Given the description of an element on the screen output the (x, y) to click on. 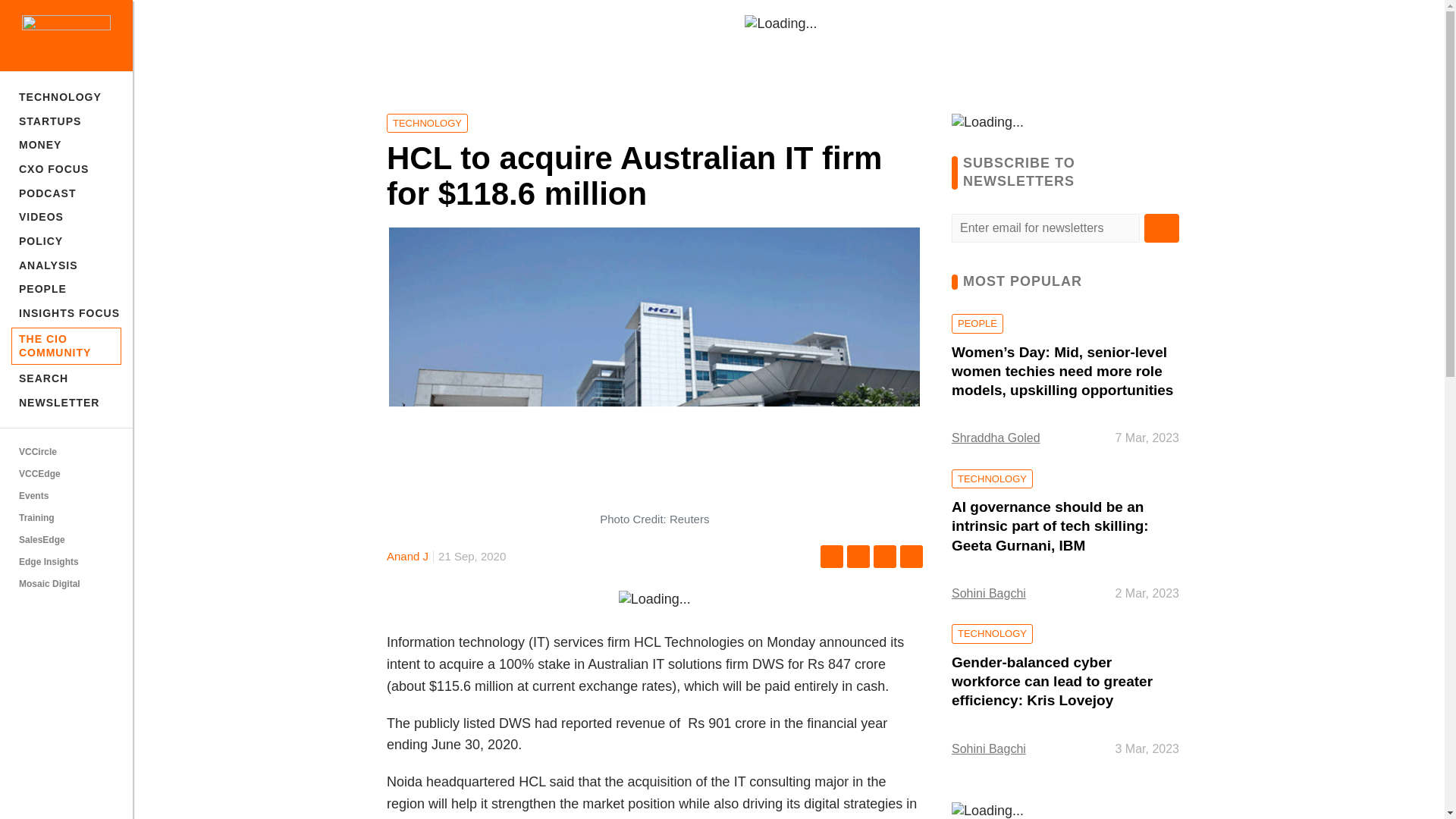
NEWSLETTER (66, 403)
ANALYSIS (66, 265)
STARTUPS (66, 121)
PODCAST (66, 193)
THE CIO COMMUNITY (65, 345)
Events (66, 496)
TECHNOLOGY (66, 96)
Twitter (858, 556)
POLICY (66, 240)
SEARCH (66, 378)
